Given the description of an element on the screen output the (x, y) to click on. 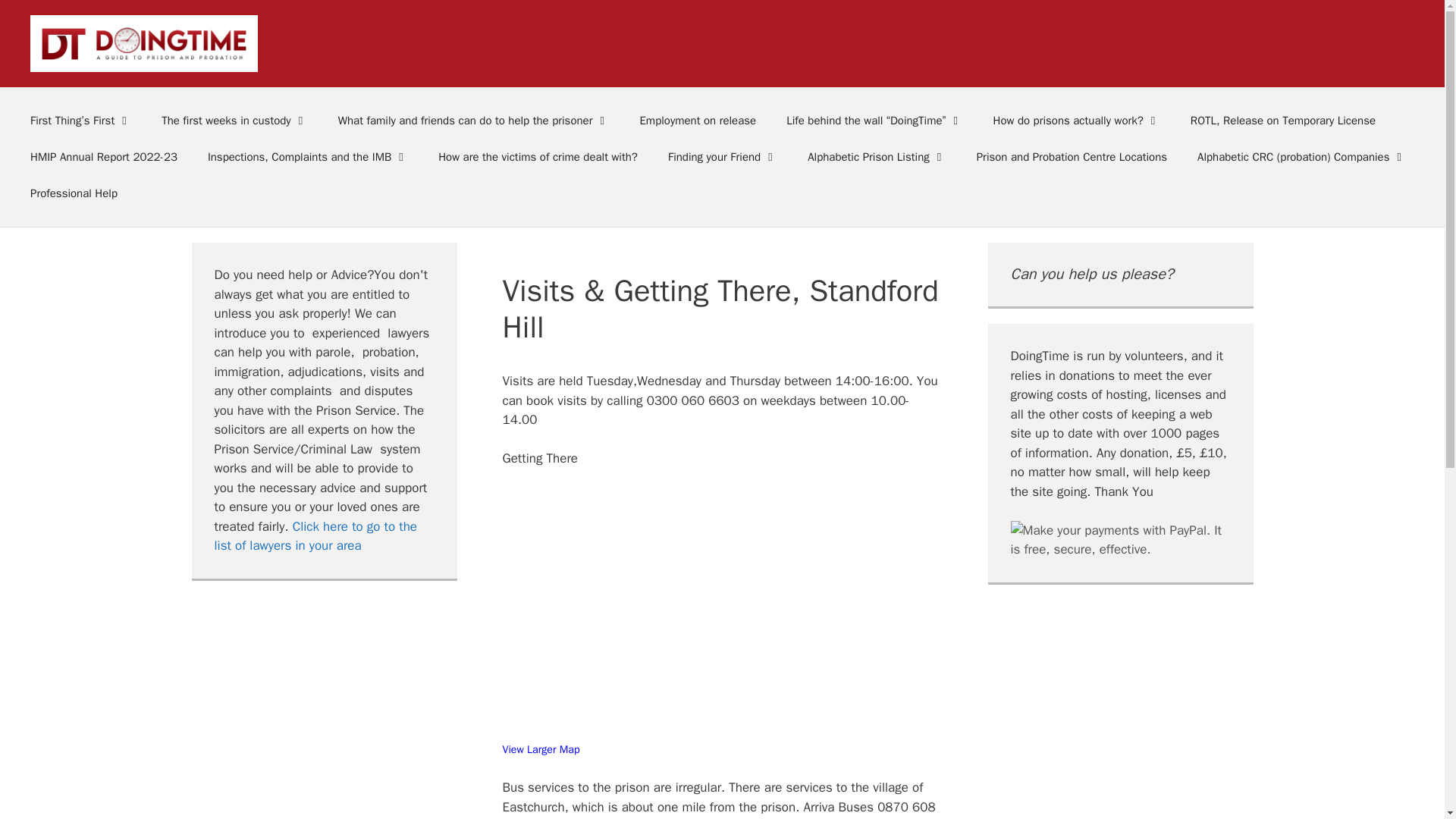
The first weeks in custody (234, 120)
How do prisons actually work? (1076, 120)
Employment on release (697, 120)
What family and friends can do to help the prisoner (473, 120)
